Given the description of an element on the screen output the (x, y) to click on. 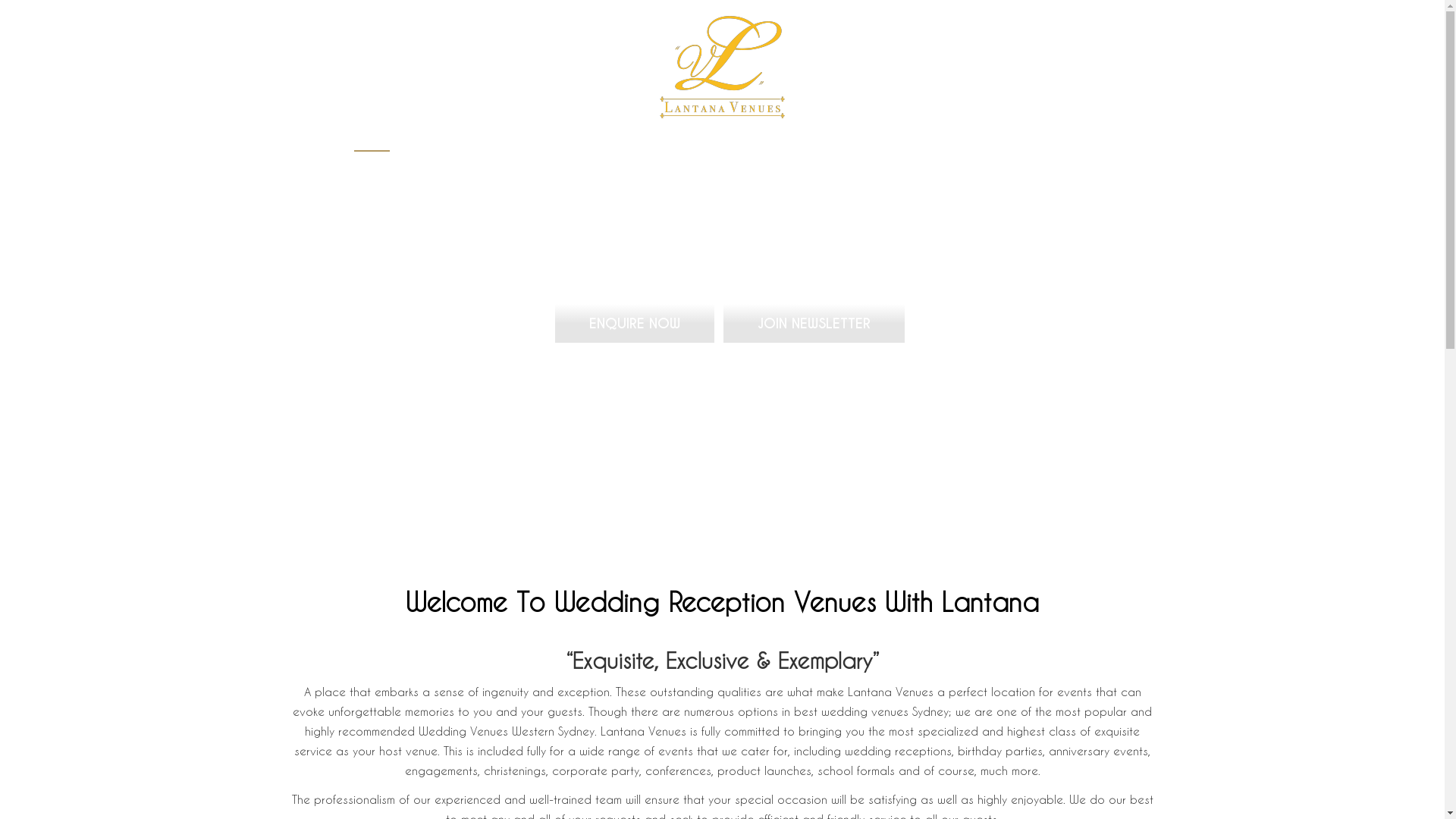
CONTACT Element type: text (1049, 142)
SERVICES Element type: text (688, 142)
JOIN NEWSLETTER Element type: text (812, 323)
ENQUIRE NOW Element type: text (633, 323)
ABOUT US Element type: text (585, 142)
HOME Element type: text (371, 142)
OUR VENUES Element type: text (472, 142)
TESTIMONIALS Element type: text (930, 142)
wedding venues western sydney Element type: hover (721, 66)
OUR GALLERY Element type: text (802, 142)
